Given the description of an element on the screen output the (x, y) to click on. 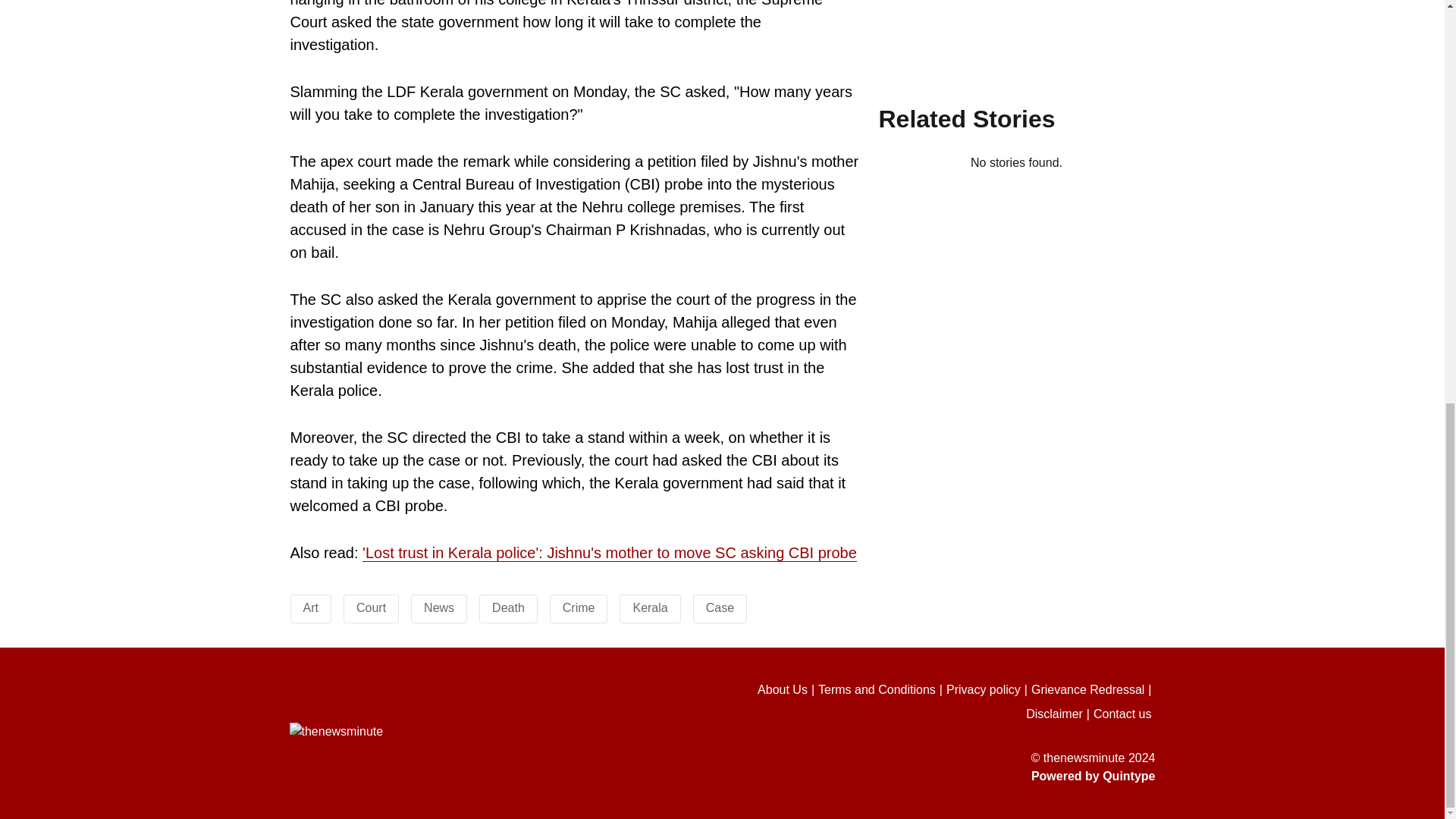
Contact us (1123, 713)
Death (508, 607)
Art (310, 607)
Case (719, 607)
Crime (578, 607)
Court (370, 607)
Kerala (648, 607)
Powered by Quintype (928, 776)
Grievance Redressal (1093, 689)
Privacy policy (988, 689)
Terms and Conditions (882, 689)
Disclaimer (1059, 713)
About Us (787, 689)
News (438, 607)
